Given the description of an element on the screen output the (x, y) to click on. 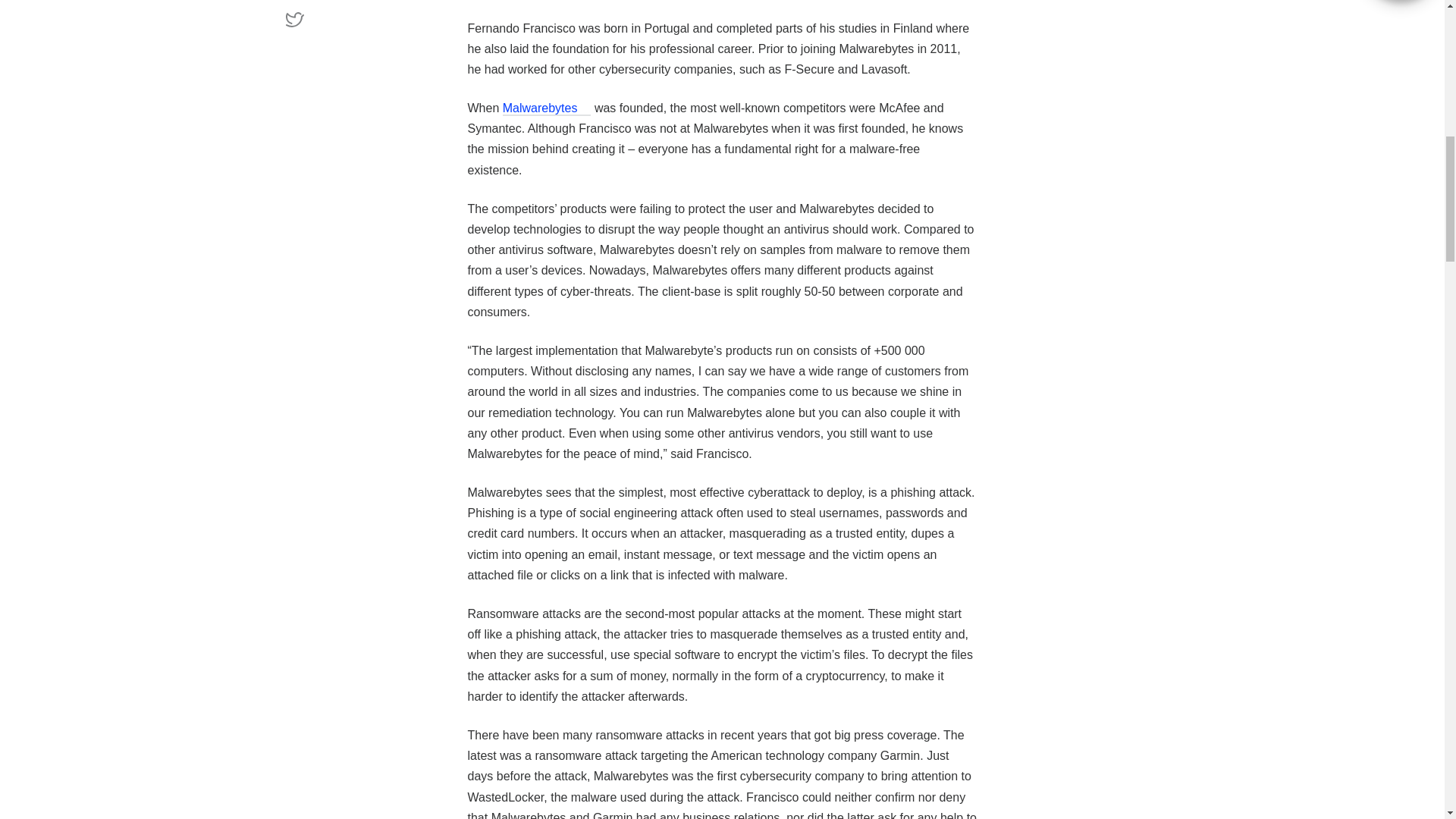
Malwarebytes (546, 108)
icon-small-twitter (376, 21)
icon-small-twitter (293, 19)
